Given the description of an element on the screen output the (x, y) to click on. 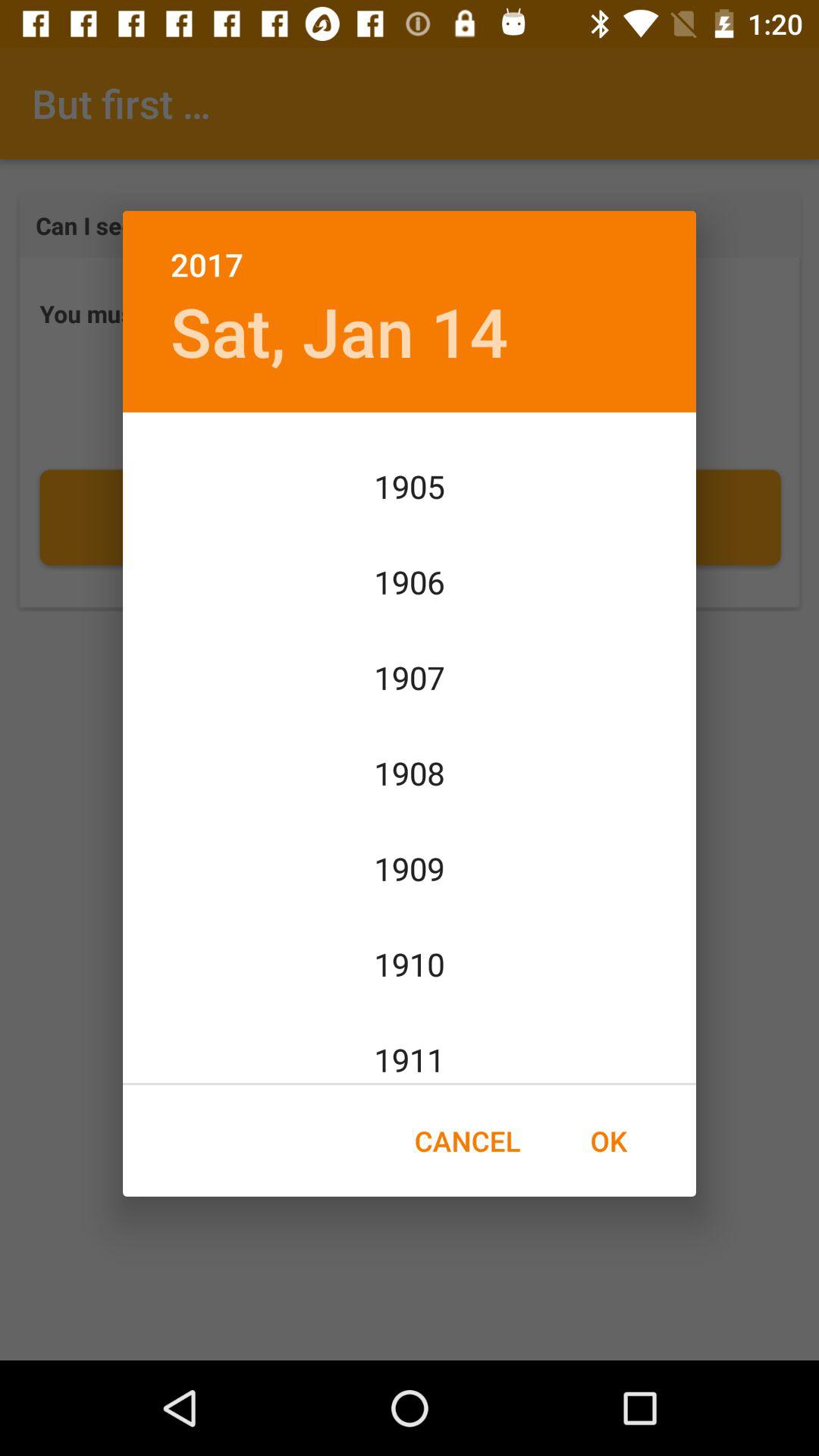
open the icon next to ok item (467, 1140)
